Given the description of an element on the screen output the (x, y) to click on. 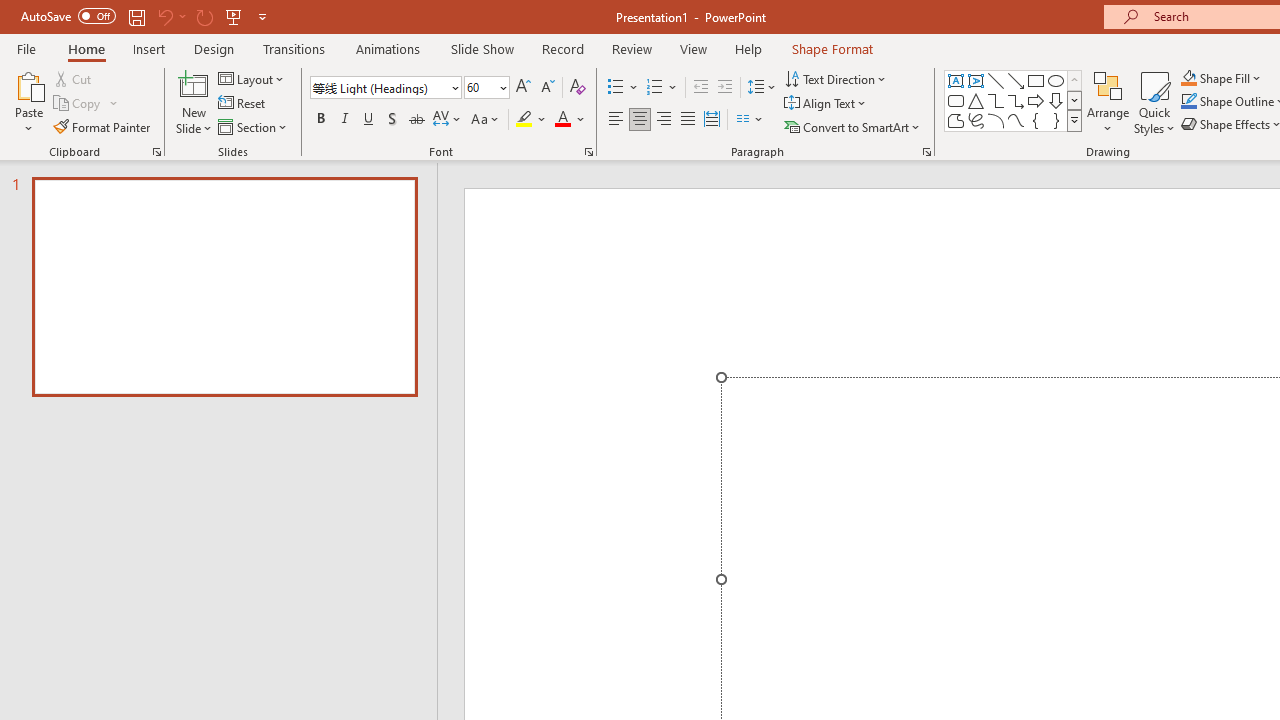
Shape Outline Blue, Accent 1 (1188, 101)
